Given the description of an element on the screen output the (x, y) to click on. 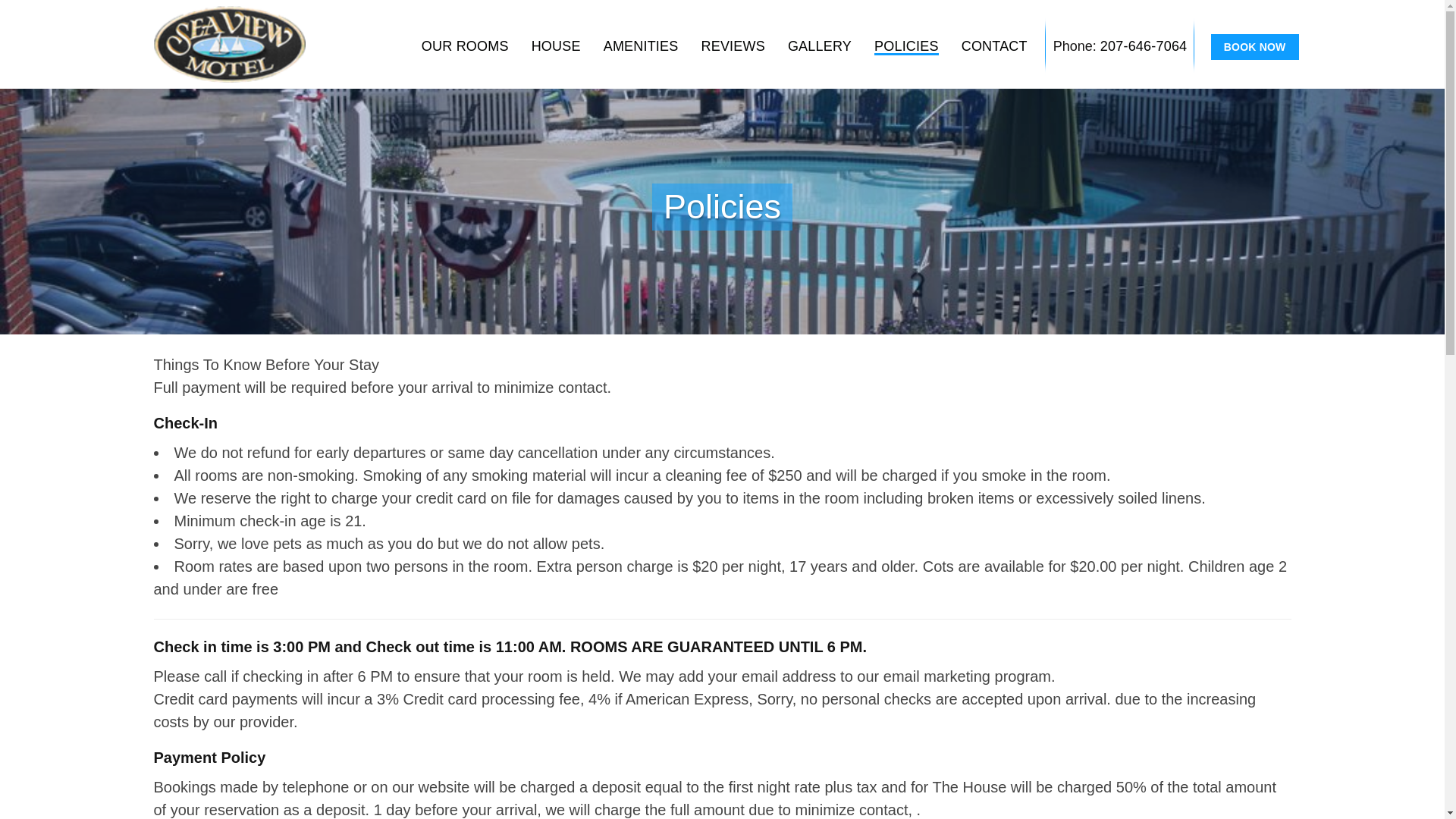
BOOK NOW (1254, 46)
207-646-7064 (1144, 46)
REVIEWS (732, 46)
POLICIES (907, 46)
AMENITIES (641, 46)
GALLERY (819, 46)
OUR ROOMS (465, 46)
HOUSE (555, 46)
CONTACT (993, 46)
